Given the description of an element on the screen output the (x, y) to click on. 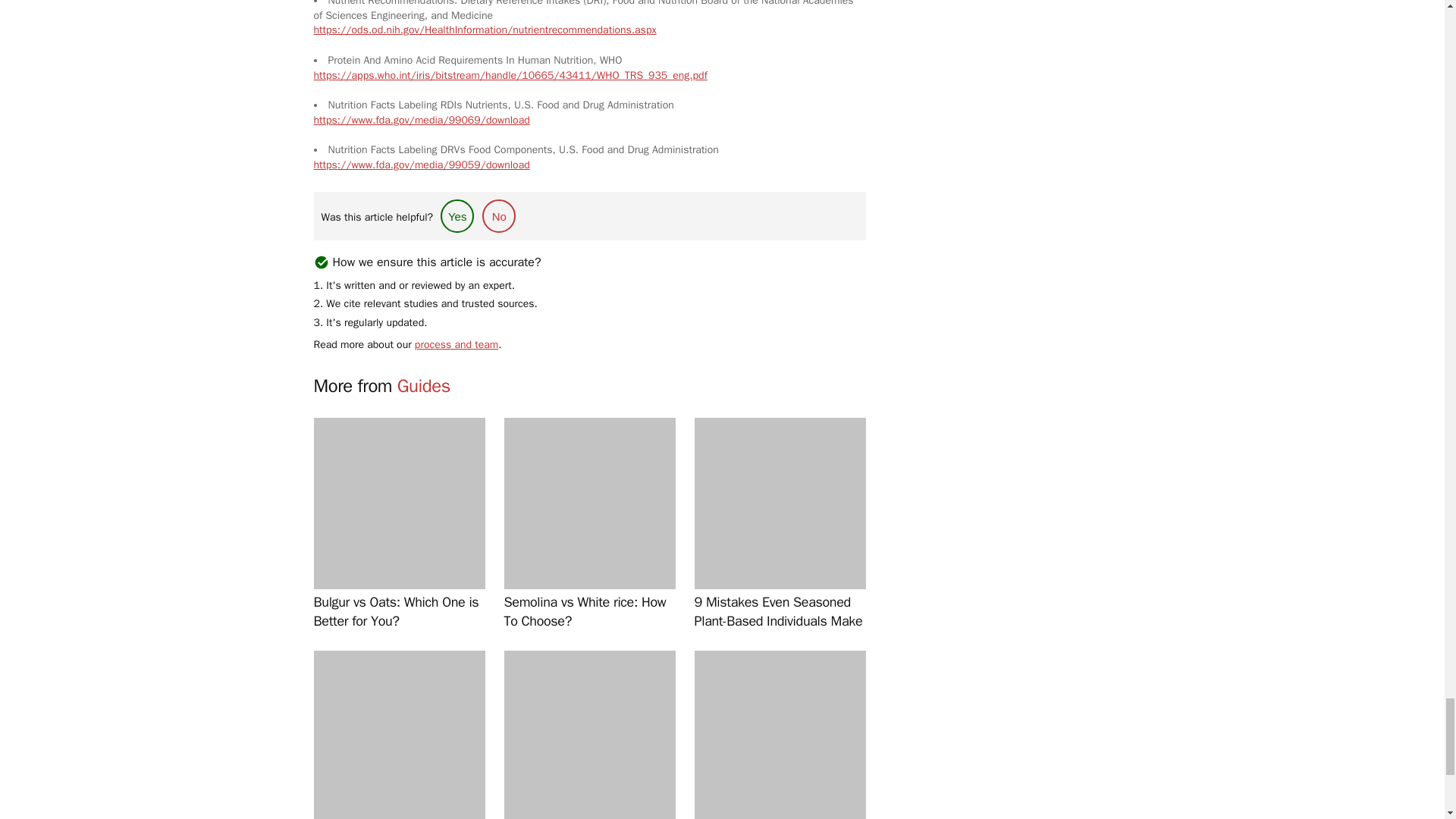
Yes (457, 215)
